Given the description of an element on the screen output the (x, y) to click on. 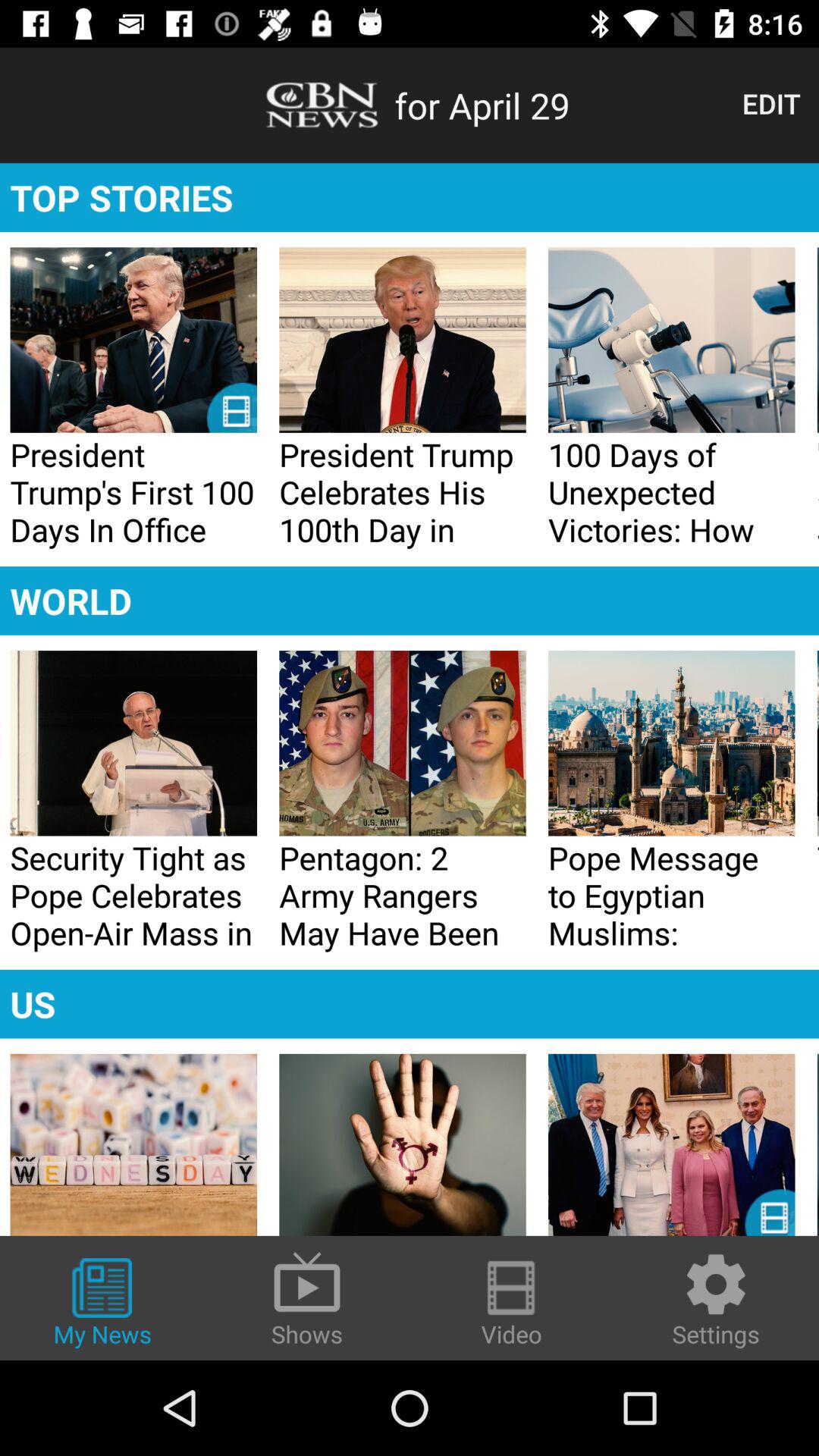
turn off icon to the right of video icon (715, 1299)
